Given the description of an element on the screen output the (x, y) to click on. 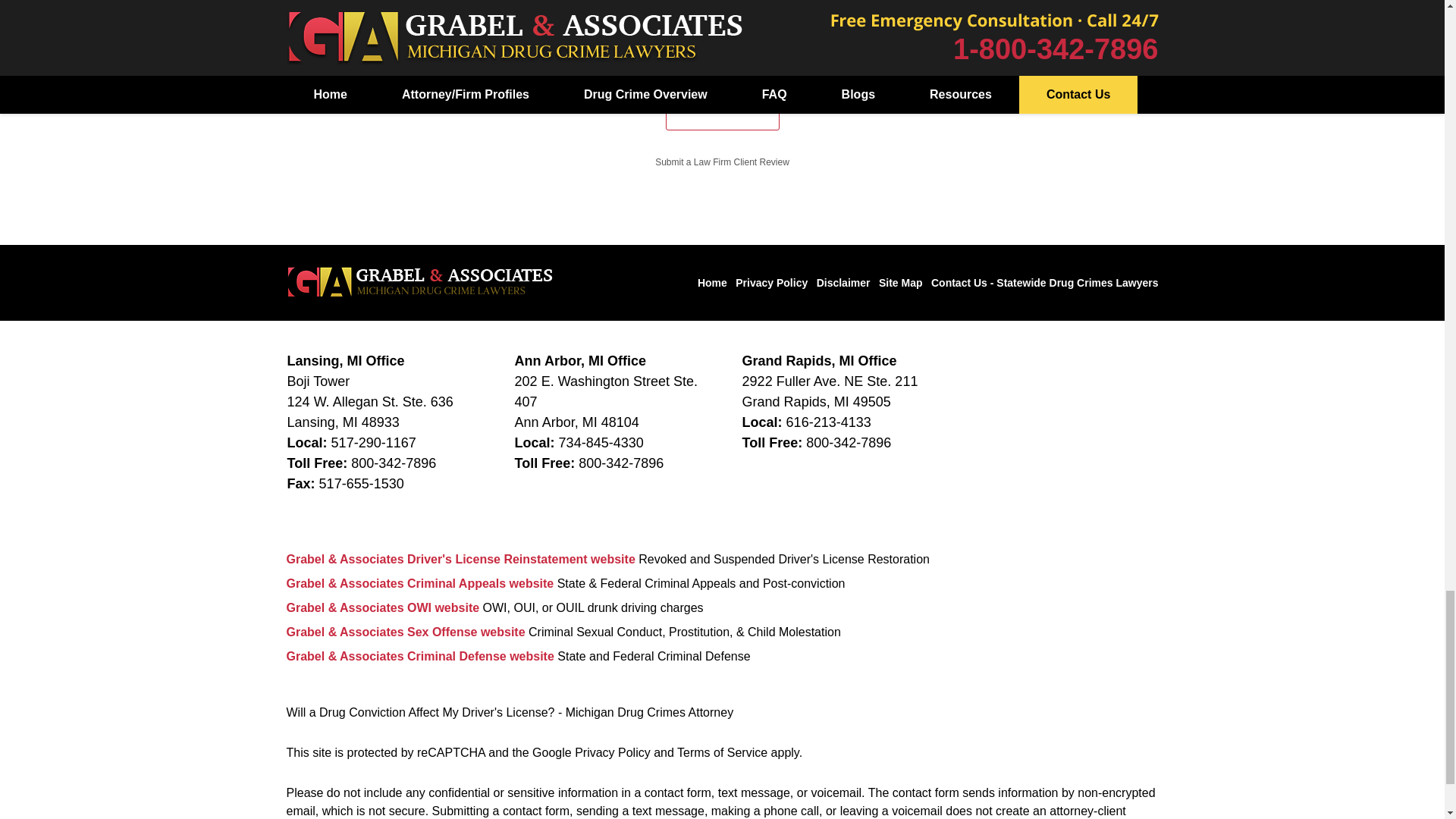
Twitter (1046, 105)
LinkedIn (1088, 105)
Facebook (1004, 105)
Justia (1130, 105)
YouTube (1004, 154)
